Given the description of an element on the screen output the (x, y) to click on. 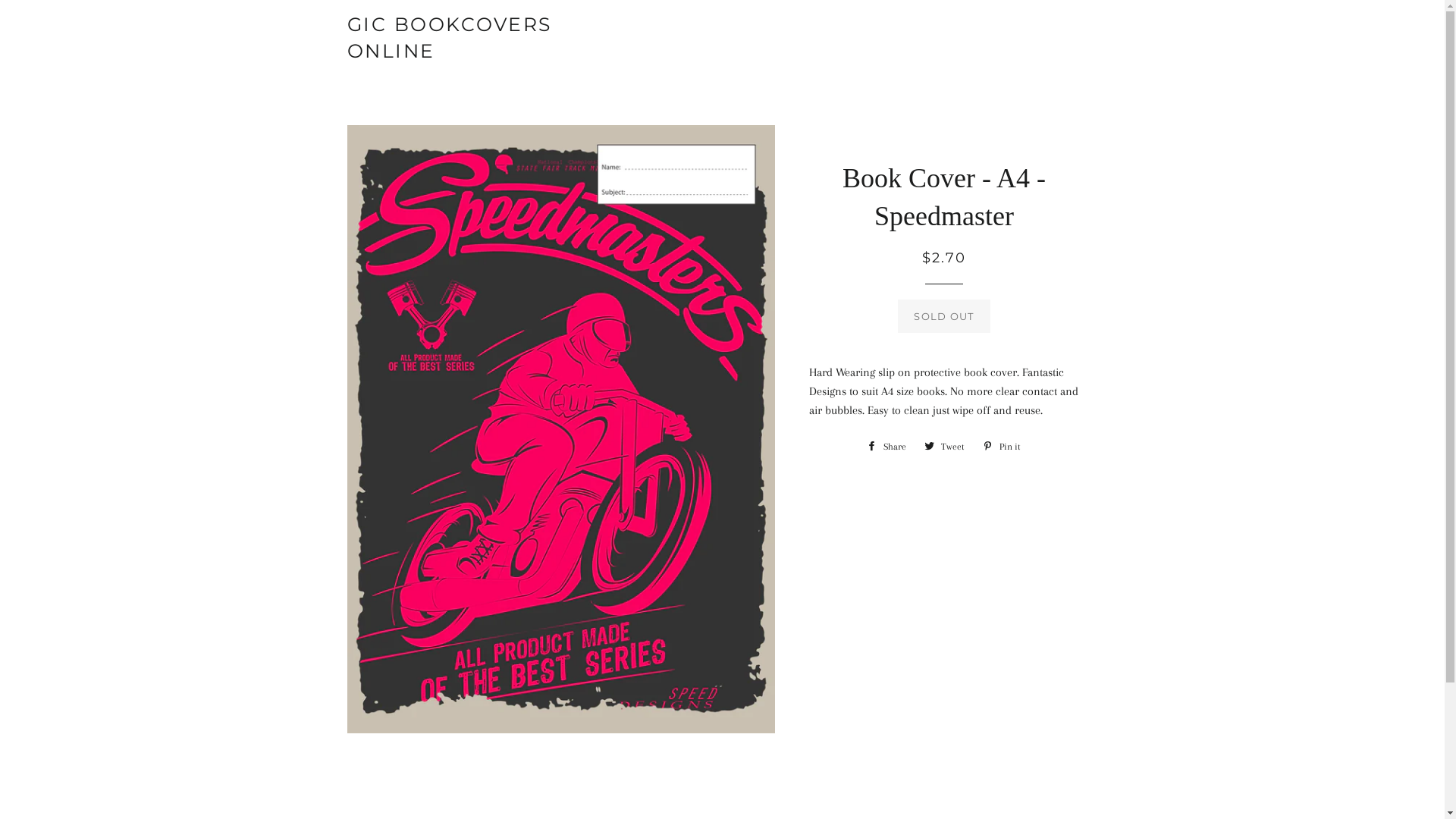
GIC BOOKCOVERS ONLINE Element type: text (472, 37)
Pin it
Pin on Pinterest Element type: text (1001, 446)
Share
Share on Facebook Element type: text (886, 446)
SOLD OUT Element type: text (943, 315)
Tweet
Tweet on Twitter Element type: text (944, 446)
